Given the description of an element on the screen output the (x, y) to click on. 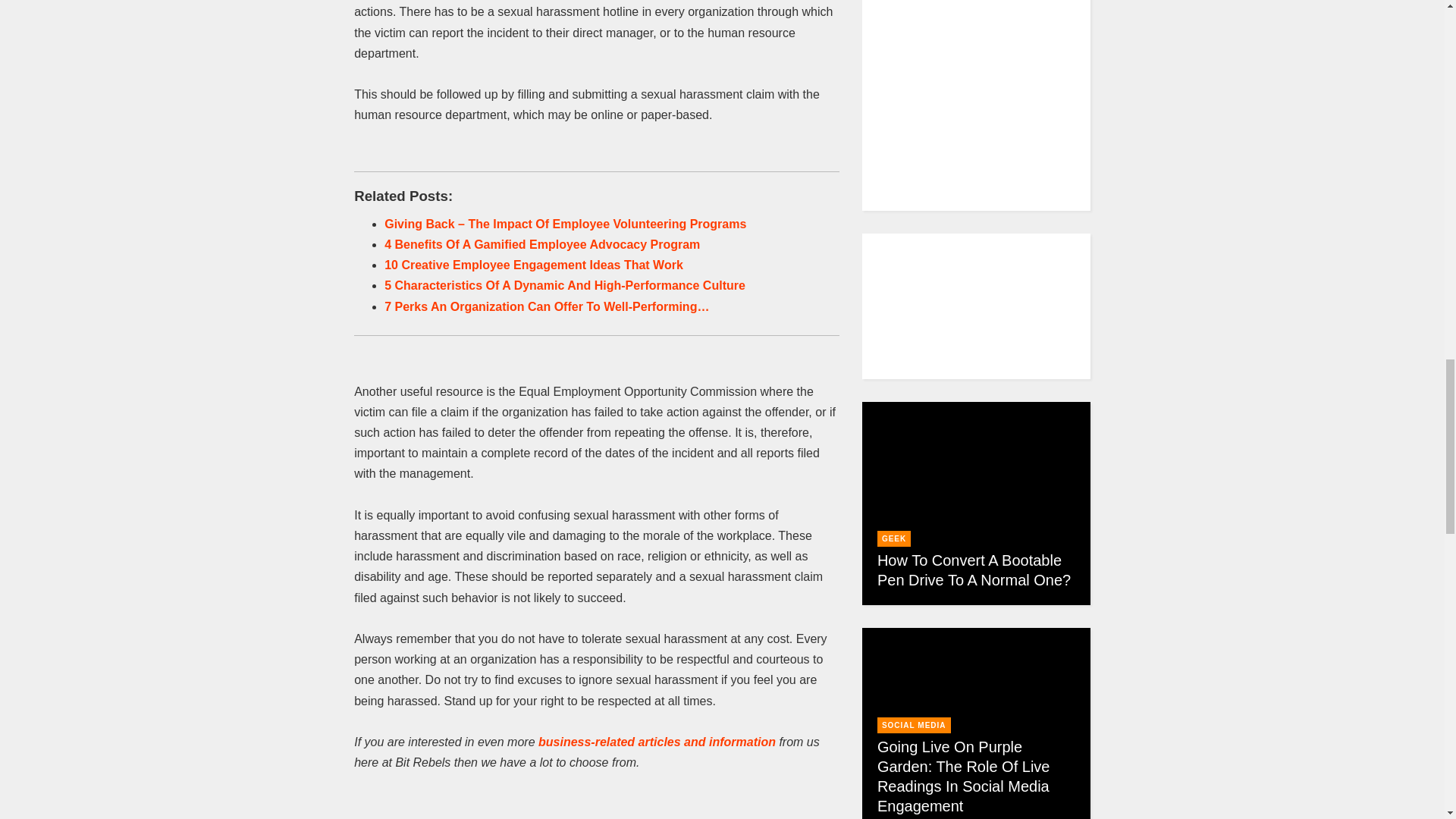
How To Convert A Bootable Pen Drive To A Normal One? (973, 570)
10 Creative Employee Engagement Ideas That Work (533, 264)
5 Characteristics Of A Dynamic And High-Performance Culture (564, 285)
4 Benefits Of A Gamified Employee Advocacy Program (542, 244)
business-related articles and information (657, 741)
